Given the description of an element on the screen output the (x, y) to click on. 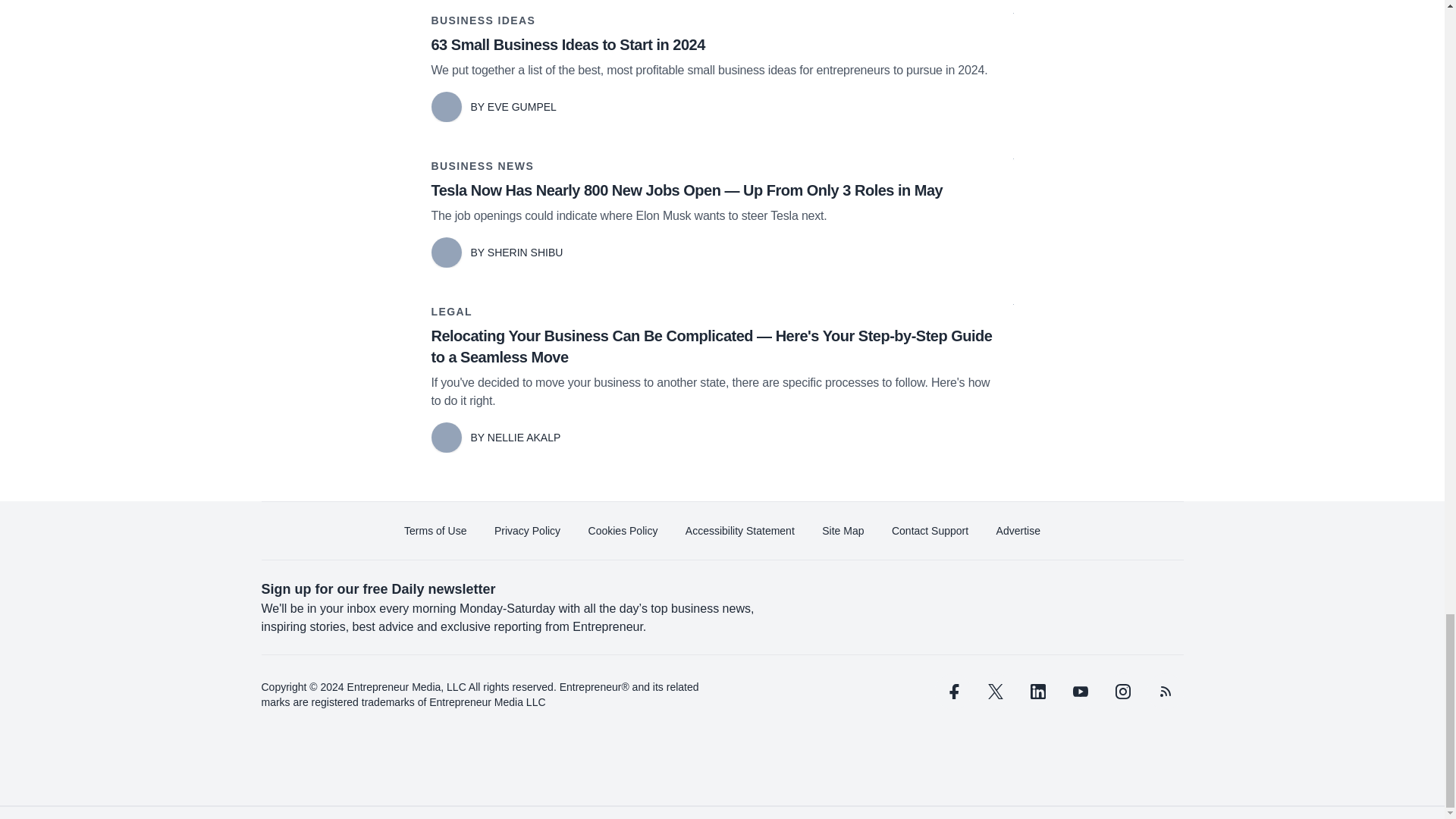
facebook (952, 691)
instagram (1121, 691)
youtube (1079, 691)
rss (1164, 691)
linkedin (1037, 691)
twitter (994, 691)
